Given the description of an element on the screen output the (x, y) to click on. 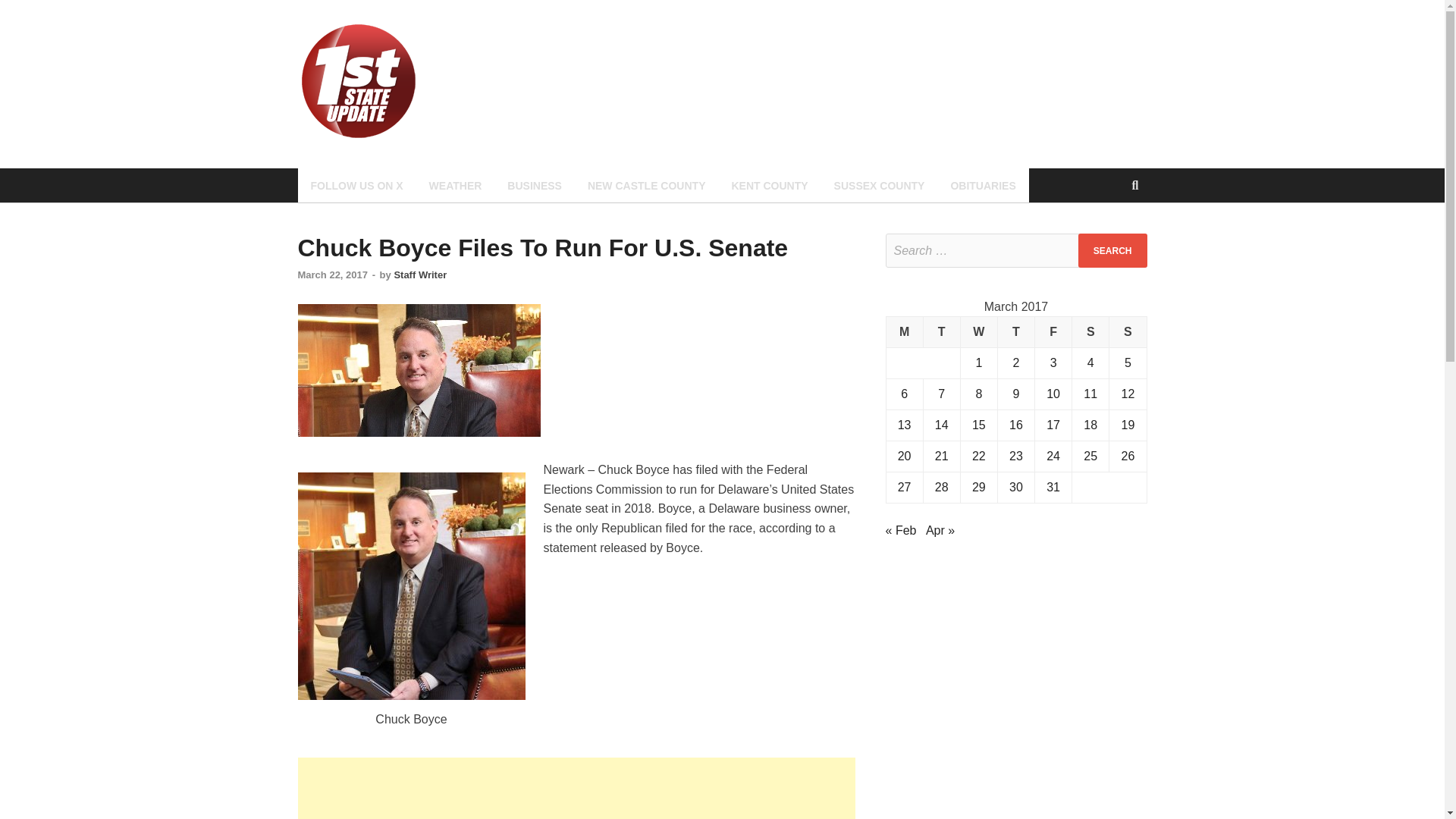
March 22, 2017 (332, 274)
NEW CASTLE COUNTY (647, 185)
12 (1127, 393)
13 (904, 424)
Search (1112, 250)
11 (1090, 393)
Search (1112, 250)
SUSSEX COUNTY (879, 185)
Monday (904, 332)
Staff Writer (419, 274)
